Given the description of an element on the screen output the (x, y) to click on. 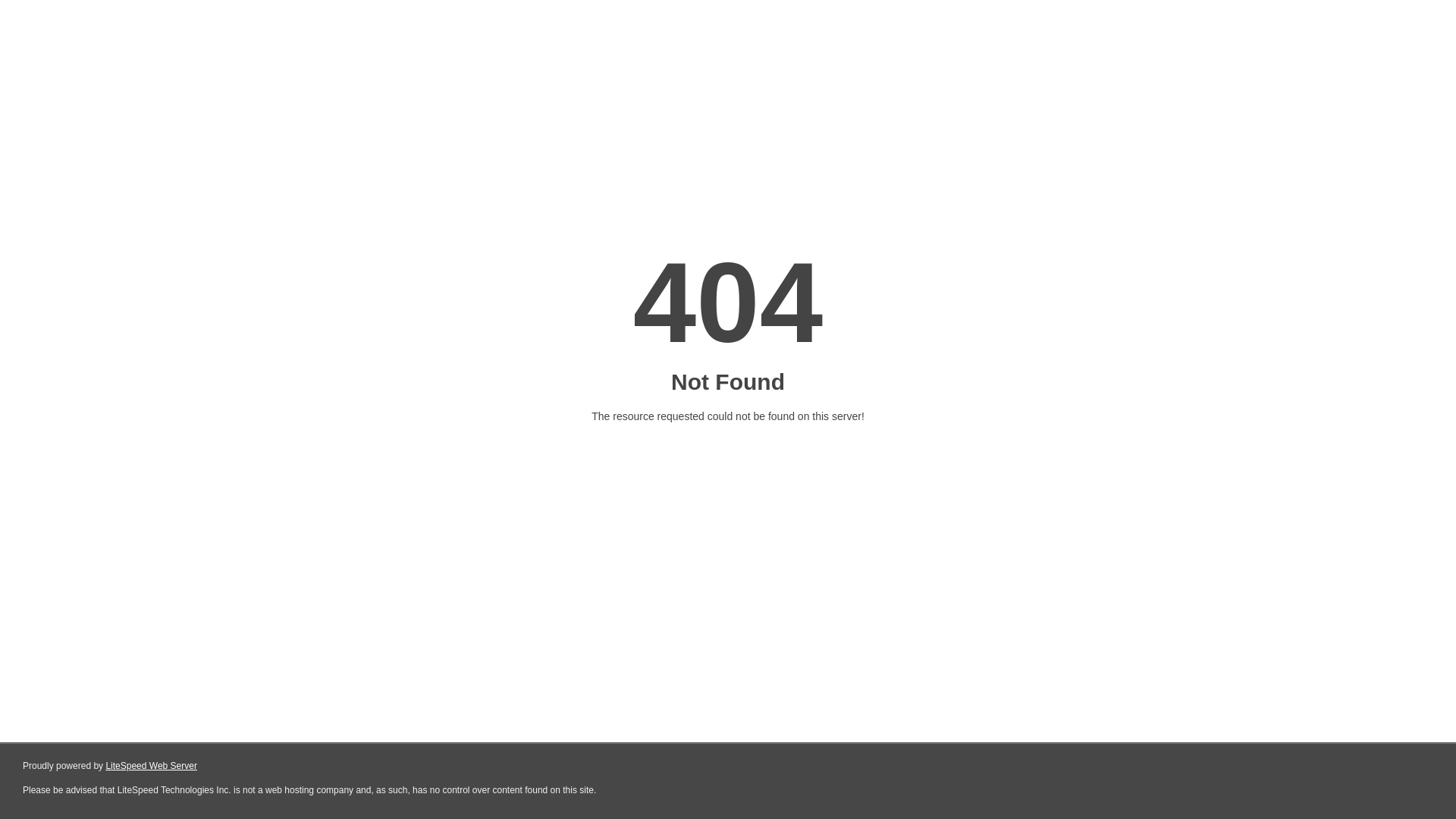
LiteSpeed Web Server Element type: text (151, 765)
